Given the description of an element on the screen output the (x, y) to click on. 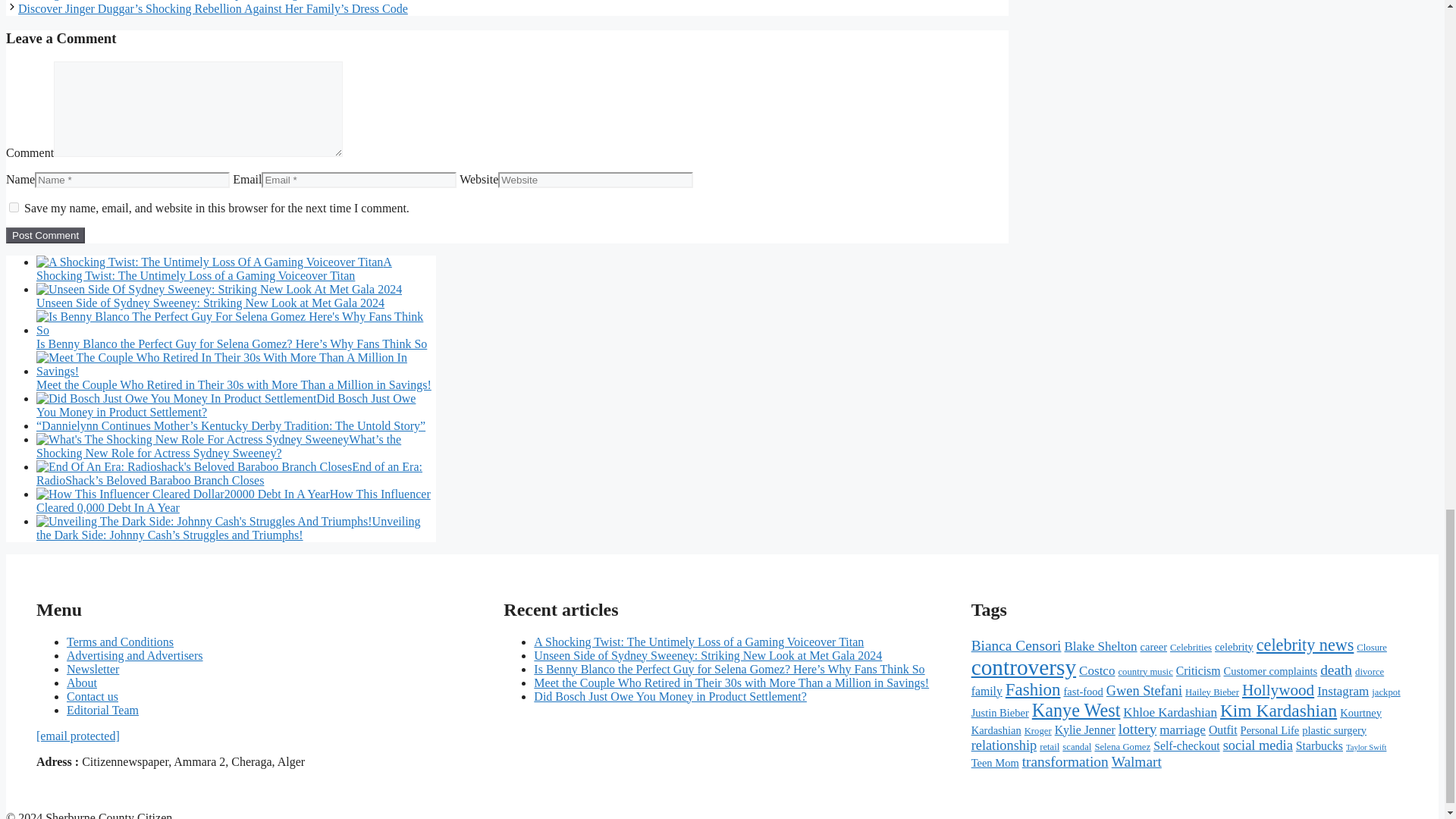
yes (13, 207)
Did Bosch Just Owe You Money in Product Settlement? (225, 405)
Post Comment (44, 235)
Post Comment (44, 235)
